Given the description of an element on the screen output the (x, y) to click on. 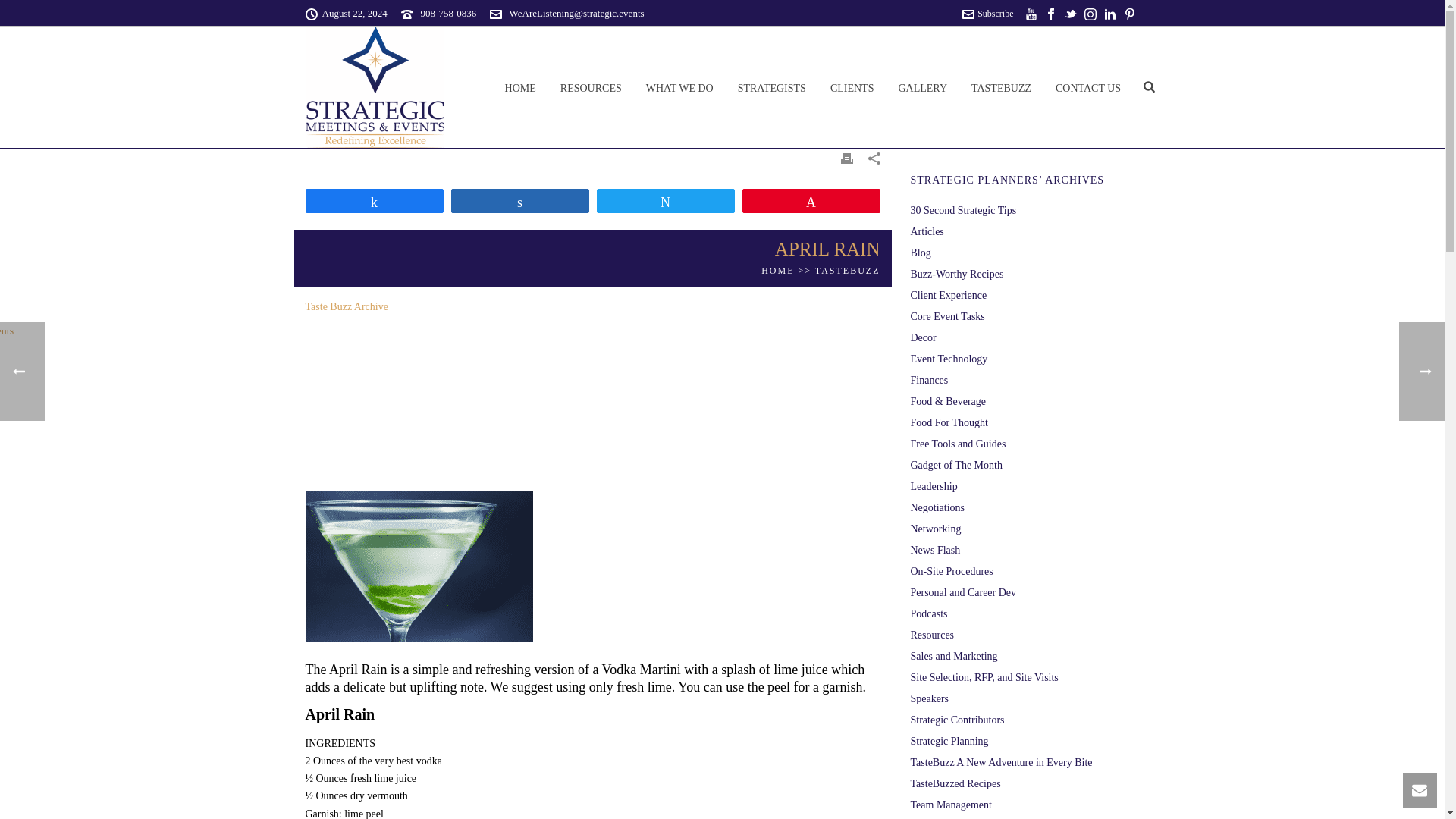
Redefining Excellence (374, 87)
908-758-0836 (448, 12)
april-rain (418, 566)
Subscribe (987, 13)
